Given the description of an element on the screen output the (x, y) to click on. 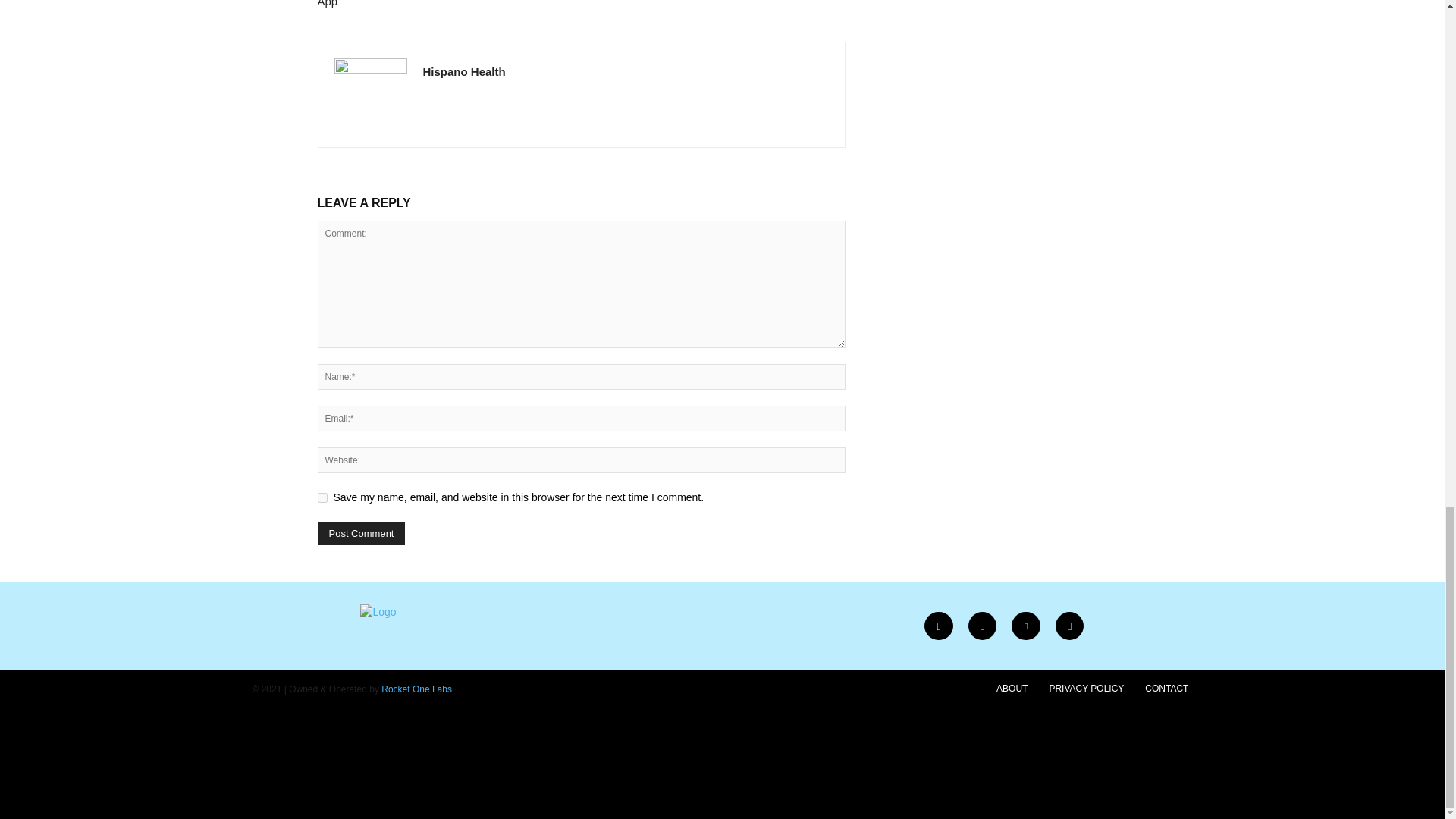
yes (321, 497)
Post Comment (360, 533)
